Given the description of an element on the screen output the (x, y) to click on. 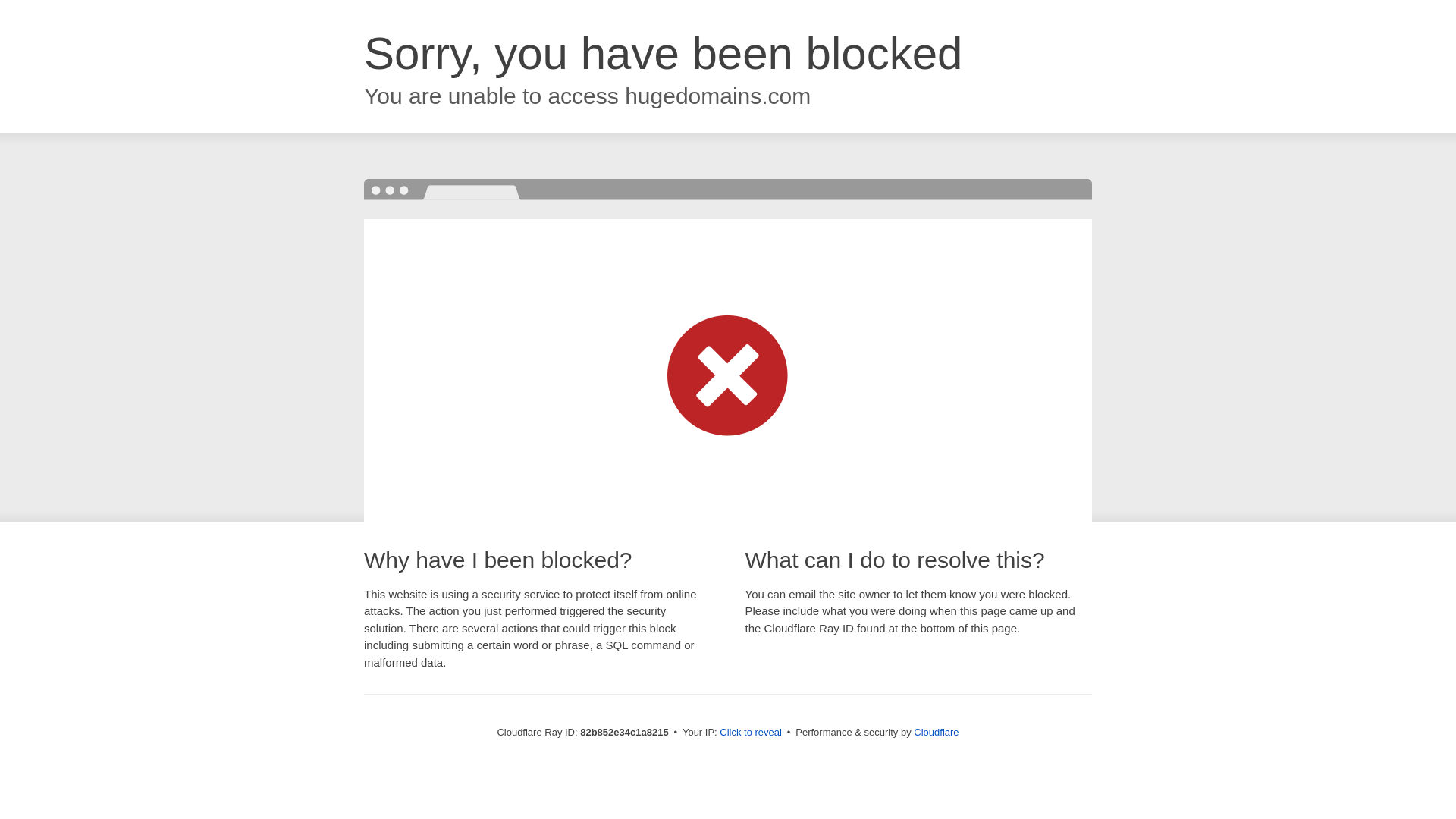
Cloudflare Element type: text (935, 731)
Click to reveal Element type: text (750, 732)
